Given the description of an element on the screen output the (x, y) to click on. 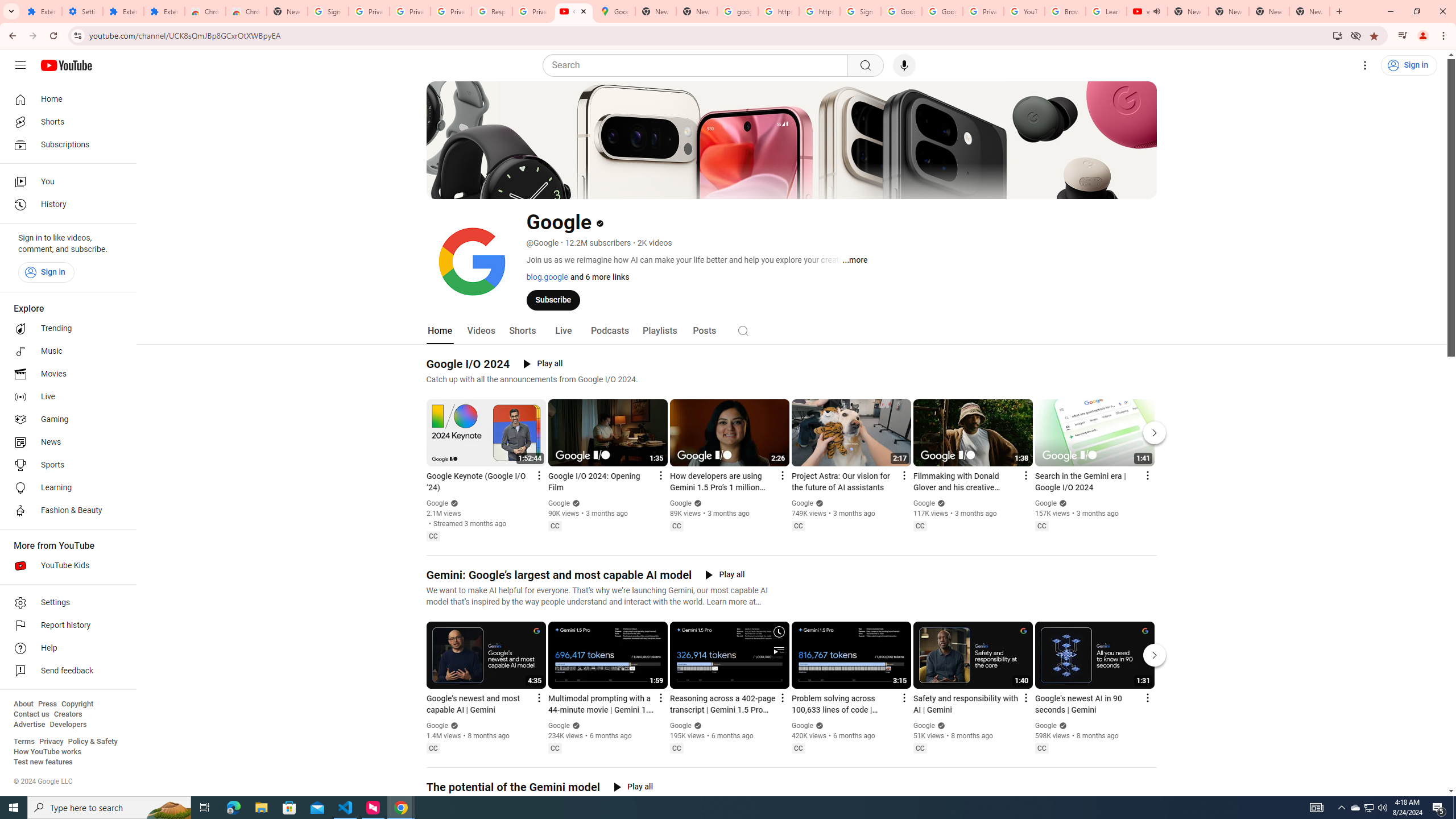
Third-party cookies blocked (1355, 35)
Google (1046, 725)
Report history (64, 625)
Live (64, 396)
Music (64, 350)
Verified (1061, 725)
Google Maps (614, 11)
Extensions (163, 11)
and 6 more links (598, 276)
Terms (23, 741)
Install YouTube (1336, 35)
